Given the description of an element on the screen output the (x, y) to click on. 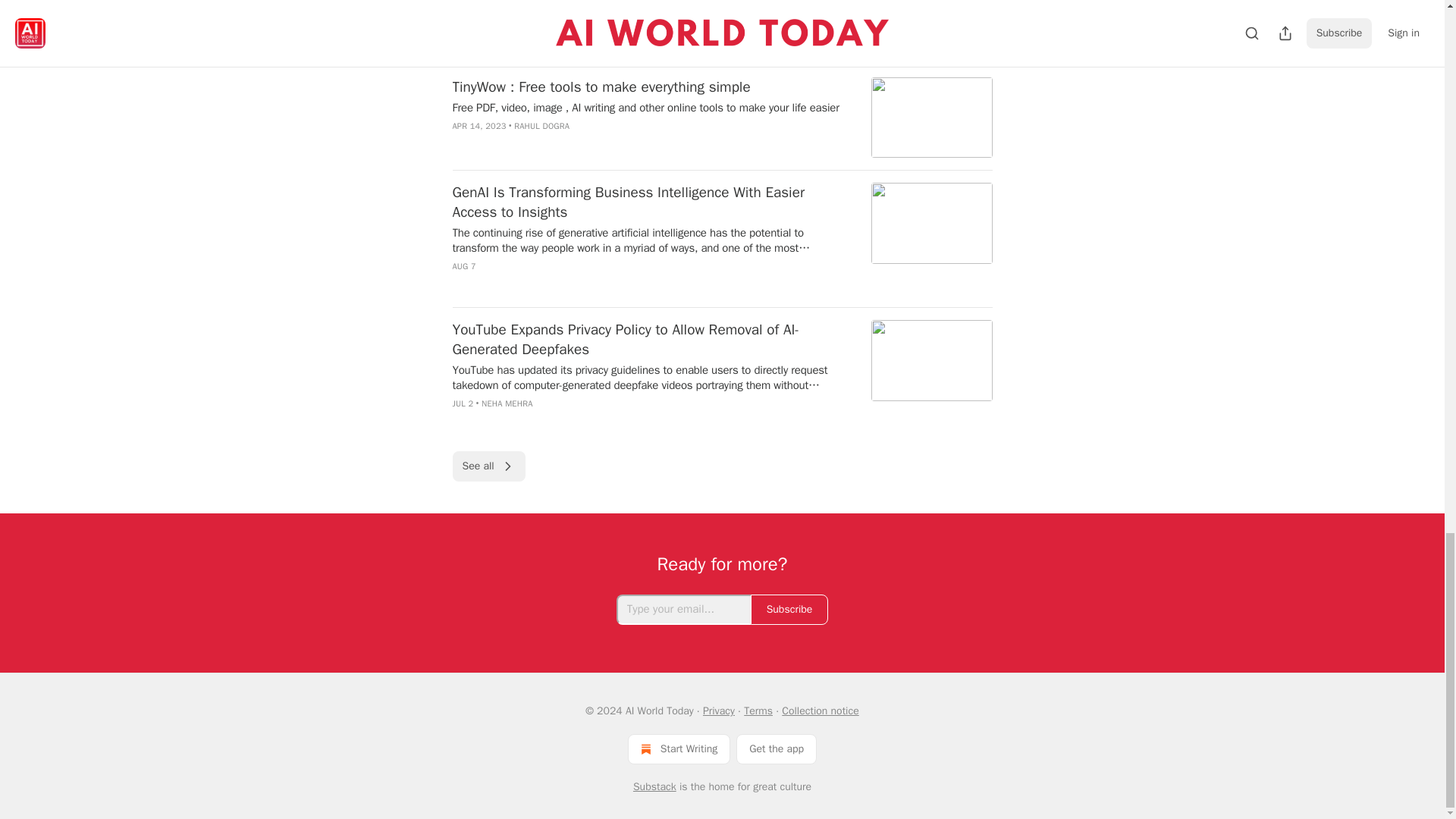
Discussions (585, 43)
Top (471, 43)
Latest (518, 43)
